Given the description of an element on the screen output the (x, y) to click on. 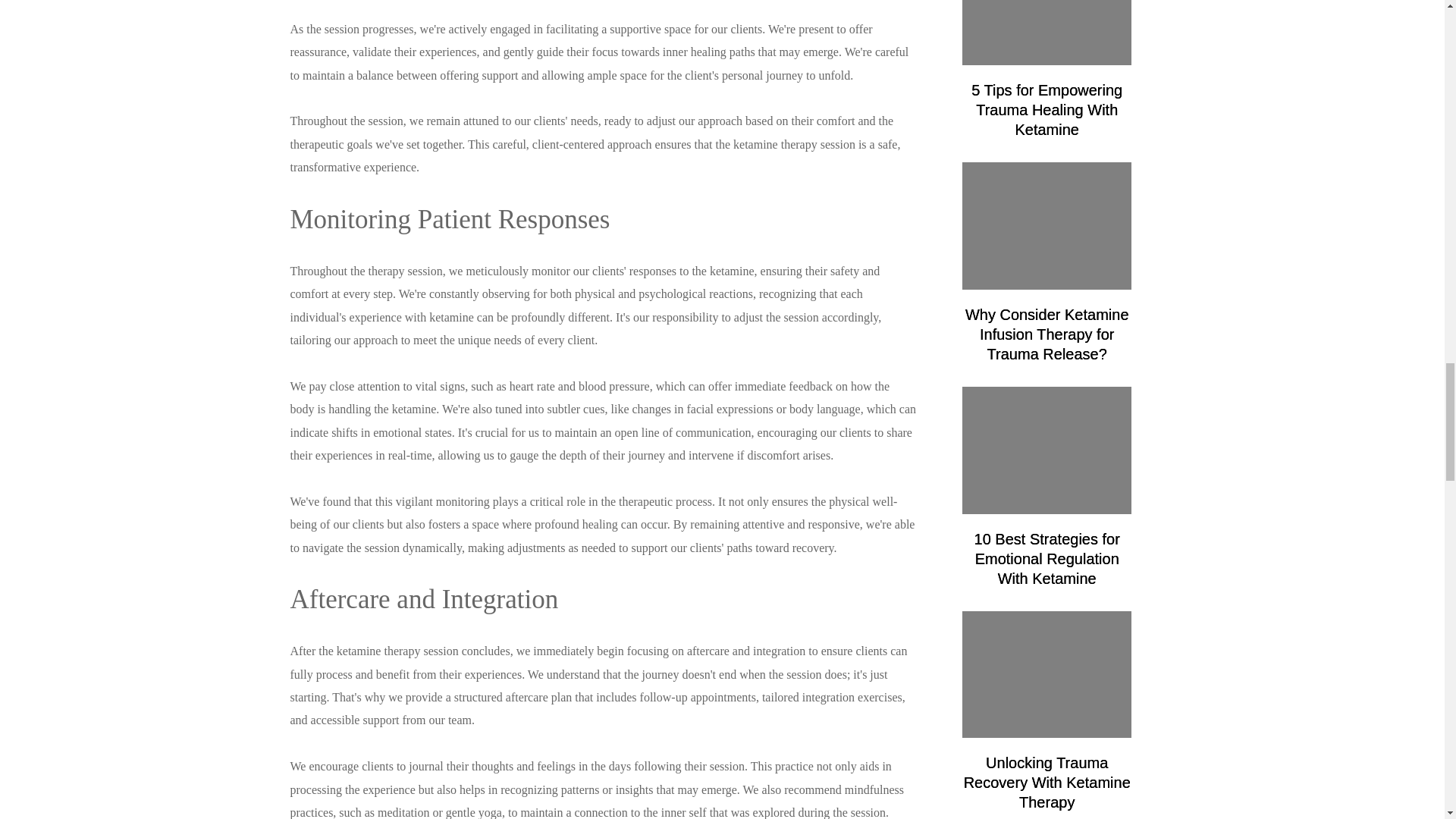
Integrating Ketamine for Somatic Therapy: A How-To Guide 3 (1047, 225)
Integrating Ketamine for Somatic Therapy: A How-To Guide 3 (1047, 33)
Integrating Ketamine for Somatic Therapy: A How-To Guide 3 (1047, 450)
Integrating Ketamine for Somatic Therapy: A How-To Guide 3 (1047, 674)
